Given the description of an element on the screen output the (x, y) to click on. 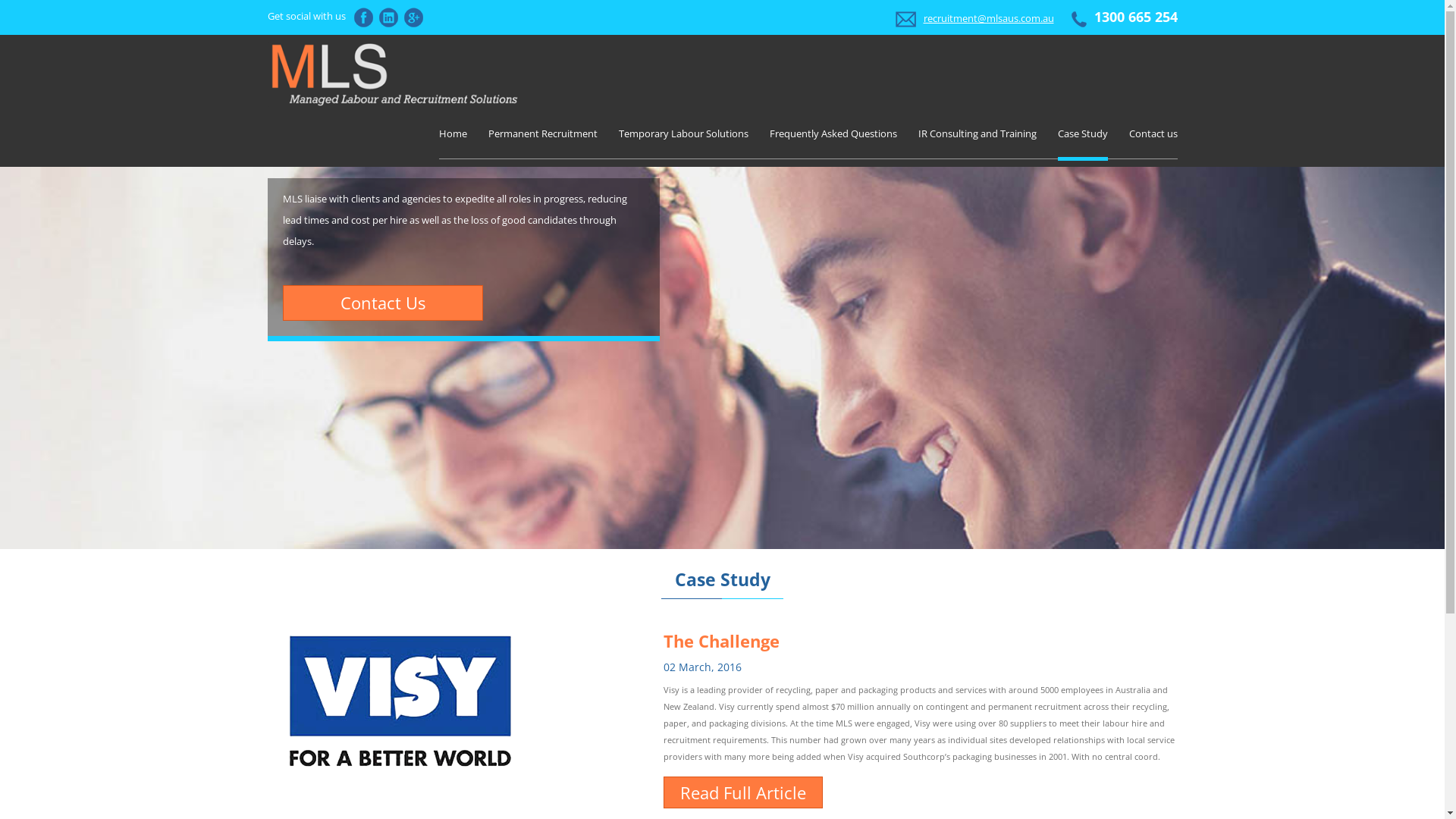
Contact us Element type: text (1152, 132)
Read Full Article Element type: text (743, 792)
Permanent Recruitment Element type: text (542, 132)
recruitment@mlsaus.com.au Element type: text (988, 18)
Case Study Element type: text (1082, 134)
Managed Labour and Recruitment Solutions Element type: hover (392, 102)
Home Element type: text (452, 132)
The Challenge Element type: text (720, 640)
Frequently Asked Questions Element type: text (832, 132)
Contact Us Element type: text (382, 302)
IR Consulting and Training Element type: text (976, 132)
Temporary Labour Solutions Element type: text (683, 132)
